Given the description of an element on the screen output the (x, y) to click on. 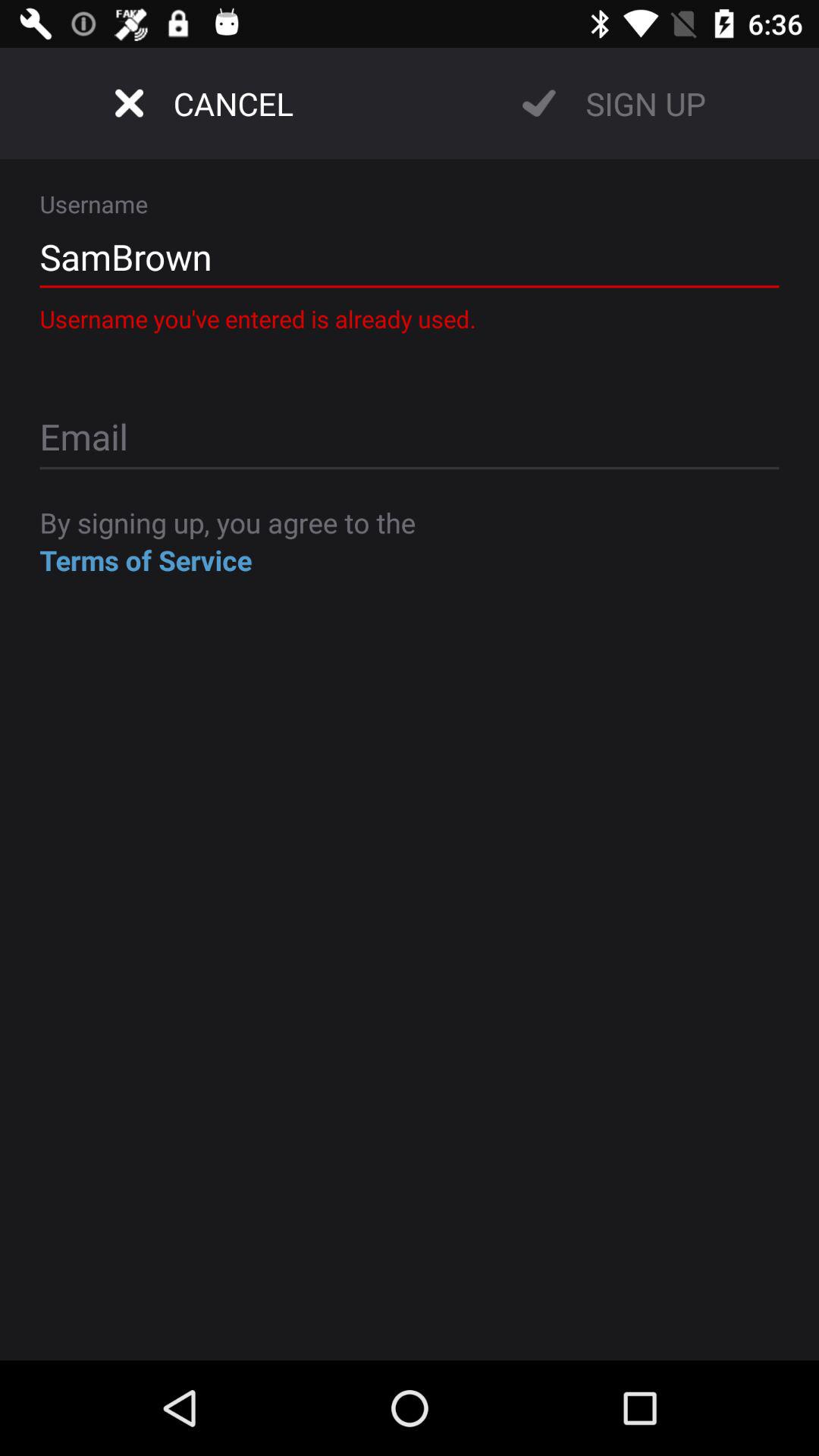
text box for entering mail id (409, 439)
